Given the description of an element on the screen output the (x, y) to click on. 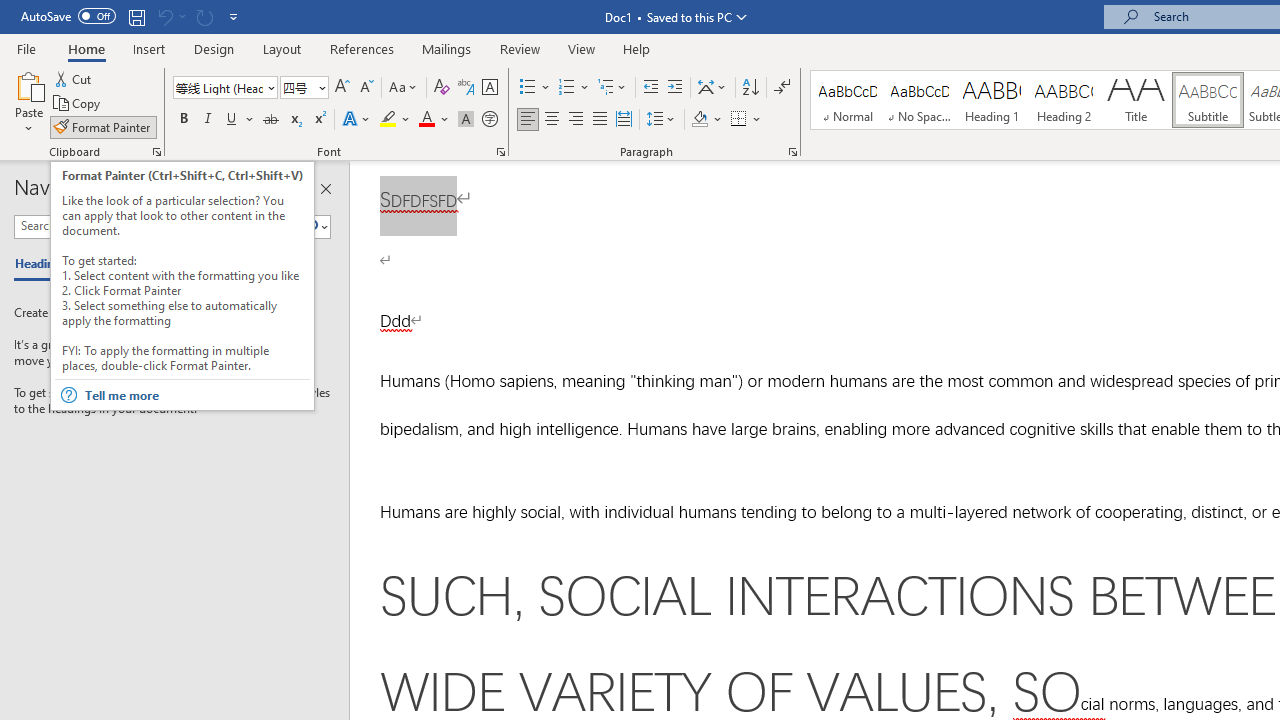
Headings (45, 264)
Enclose Characters... (489, 119)
System (10, 11)
Help (637, 48)
Subscript (294, 119)
Strikethrough (270, 119)
Borders (739, 119)
System (10, 11)
Review (520, 48)
Align Right (575, 119)
Text Highlight Color Yellow (388, 119)
Font Size (297, 87)
Font Color (434, 119)
Insert (149, 48)
Tell me more (196, 395)
